Given the description of an element on the screen output the (x, y) to click on. 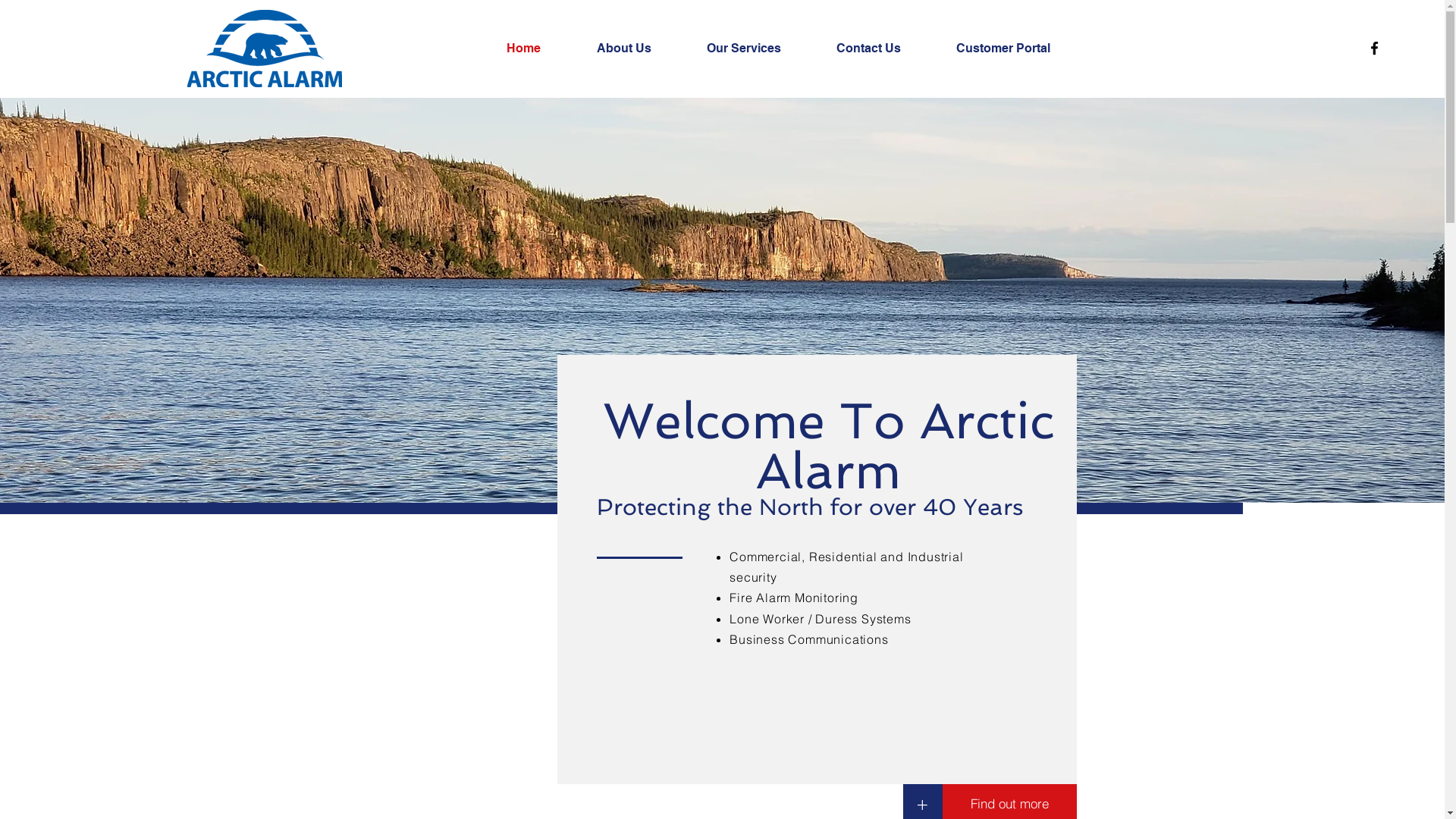
Customer Portal Element type: text (1019, 48)
Home Element type: text (539, 48)
About Us Element type: text (640, 48)
Our Services Element type: text (759, 48)
Contact Us Element type: text (884, 48)
